Given the description of an element on the screen output the (x, y) to click on. 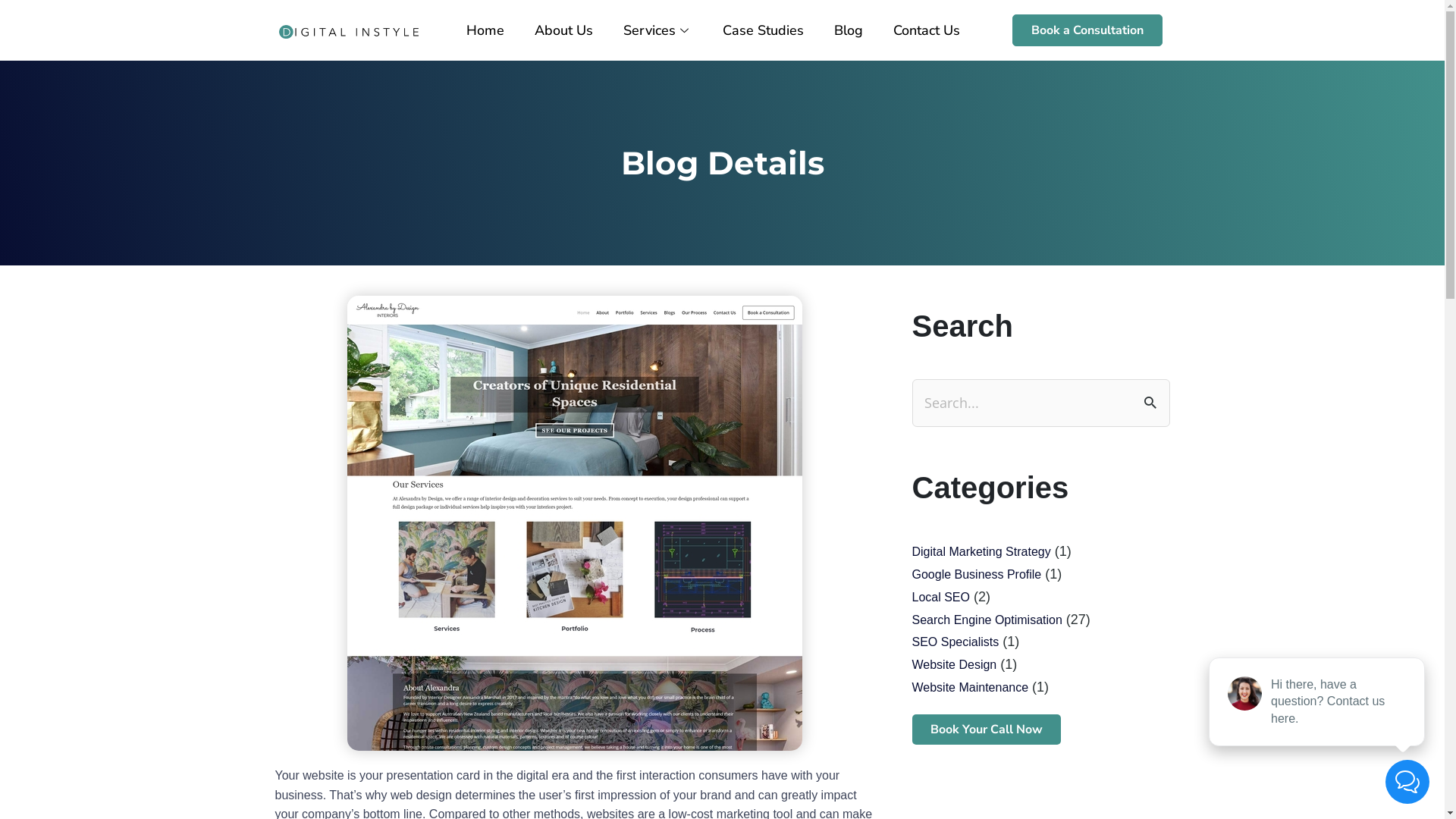
Digital Marketing Strategy Element type: text (980, 551)
Website Maintenance Element type: text (969, 686)
Blog Element type: text (848, 30)
Book Your Call Now Element type: text (985, 729)
Search Engine Optimisation Element type: text (986, 619)
Local SEO Element type: text (940, 596)
Search Element type: text (1152, 401)
Case Studies Element type: text (763, 30)
SEO Specialists Element type: text (954, 641)
Home Element type: text (485, 30)
Book a Consultation Element type: text (1087, 30)
Website Design Element type: text (953, 664)
Services Element type: text (657, 30)
About Us Element type: text (563, 30)
Contact Us Element type: text (926, 30)
Google Business Profile Element type: text (976, 573)
